Given the description of an element on the screen output the (x, y) to click on. 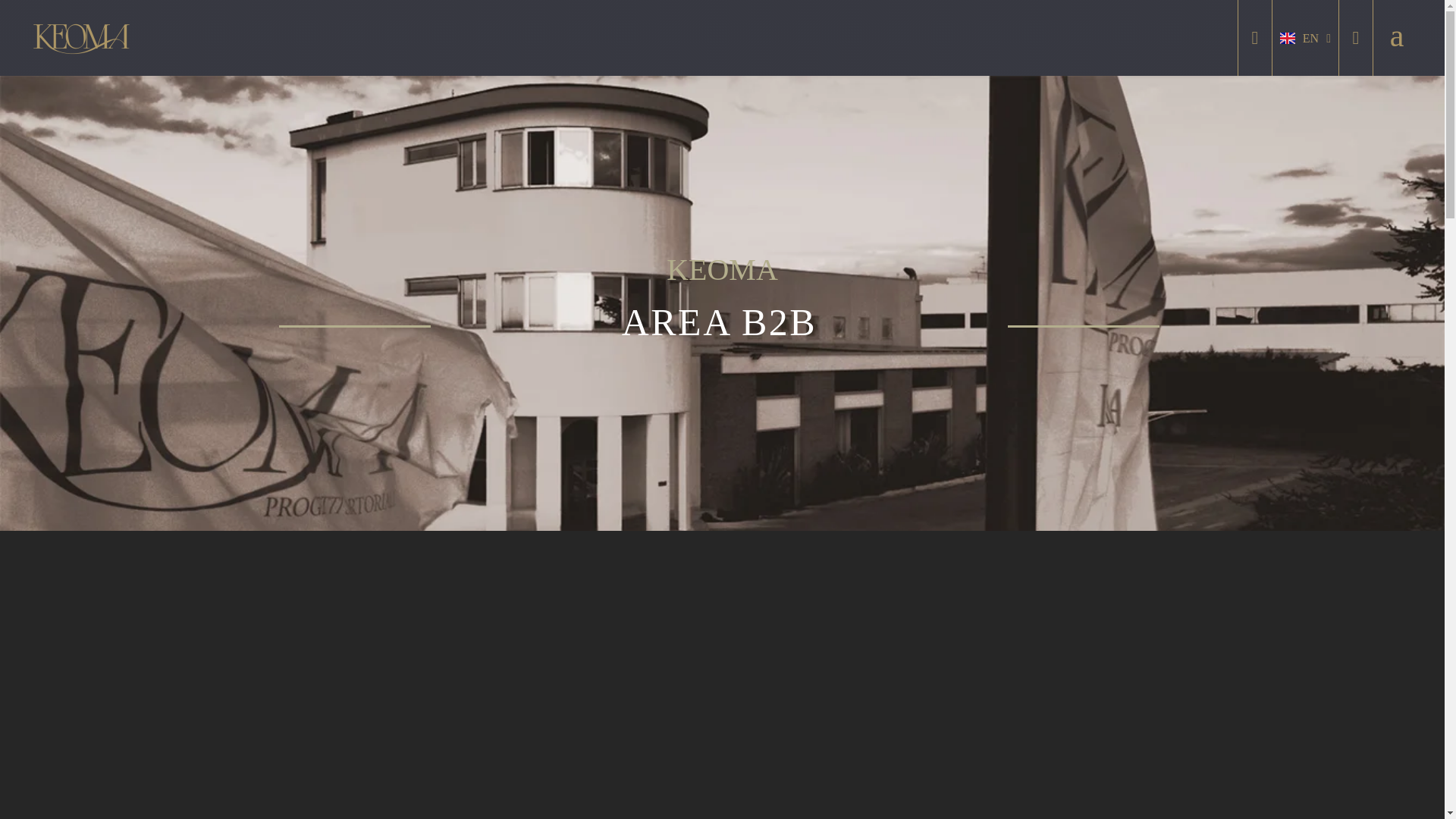
EN (1304, 37)
